Given the description of an element on the screen output the (x, y) to click on. 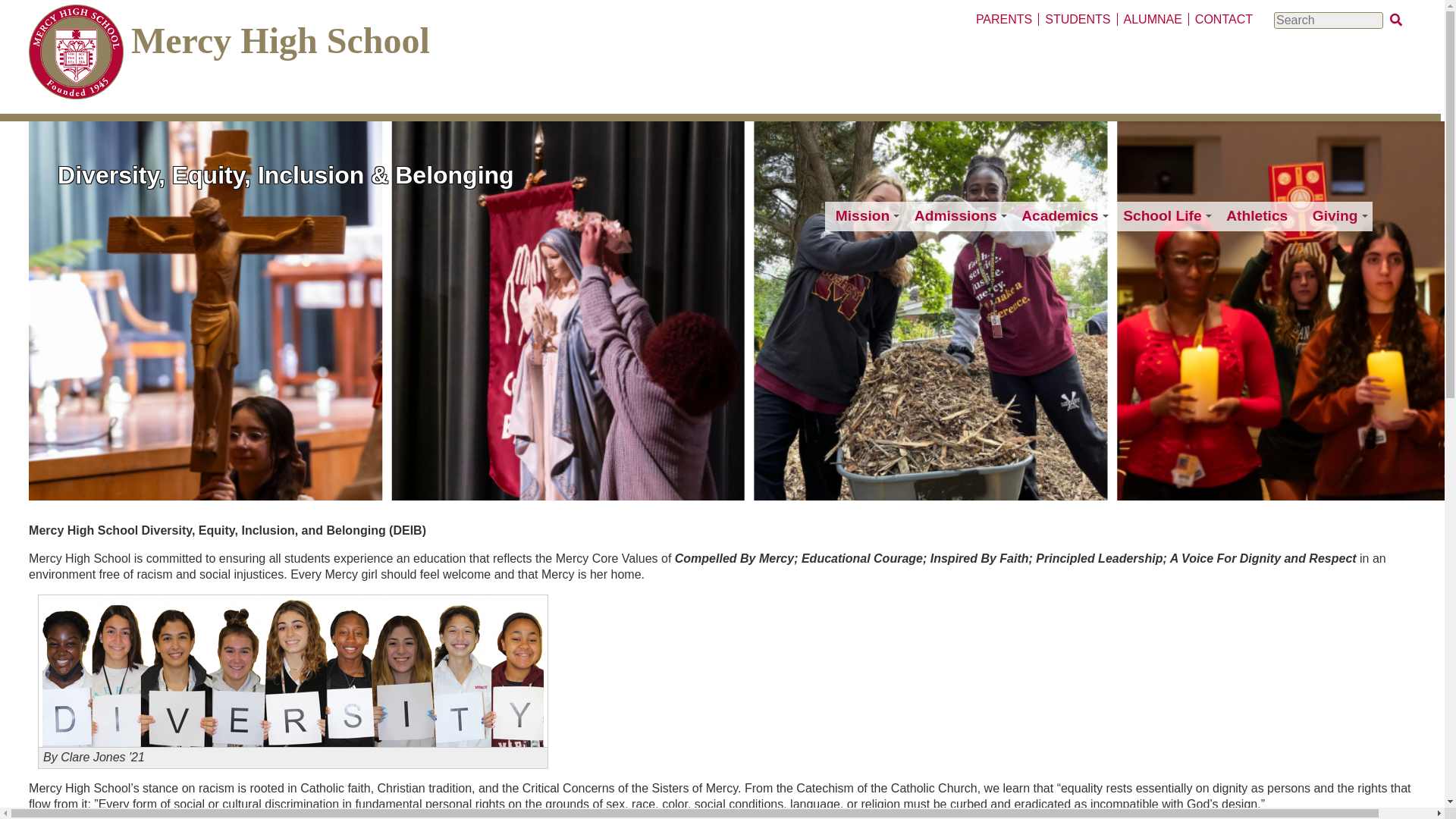
x (1395, 19)
Mission (864, 215)
Home (76, 54)
STUDENTS (1077, 19)
Mercy High School (280, 40)
PARENTS (1003, 19)
CONTACT (1223, 19)
x (1395, 19)
ALUMNAE (1152, 19)
